Given the description of an element on the screen output the (x, y) to click on. 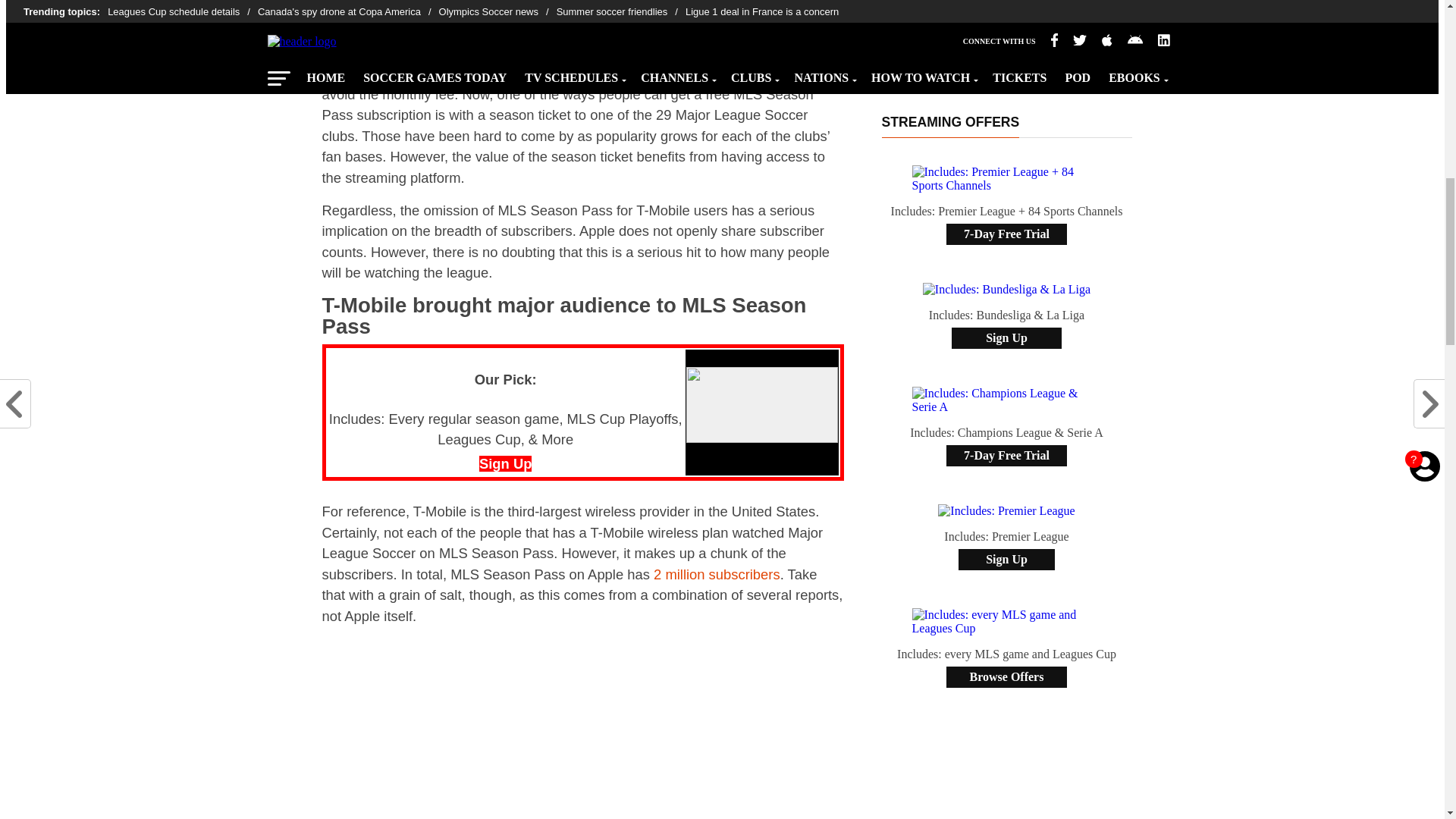
2 million subscribers (716, 574)
Sign Up (505, 463)
get MLS Season Pass for free (651, 73)
